Given the description of an element on the screen output the (x, y) to click on. 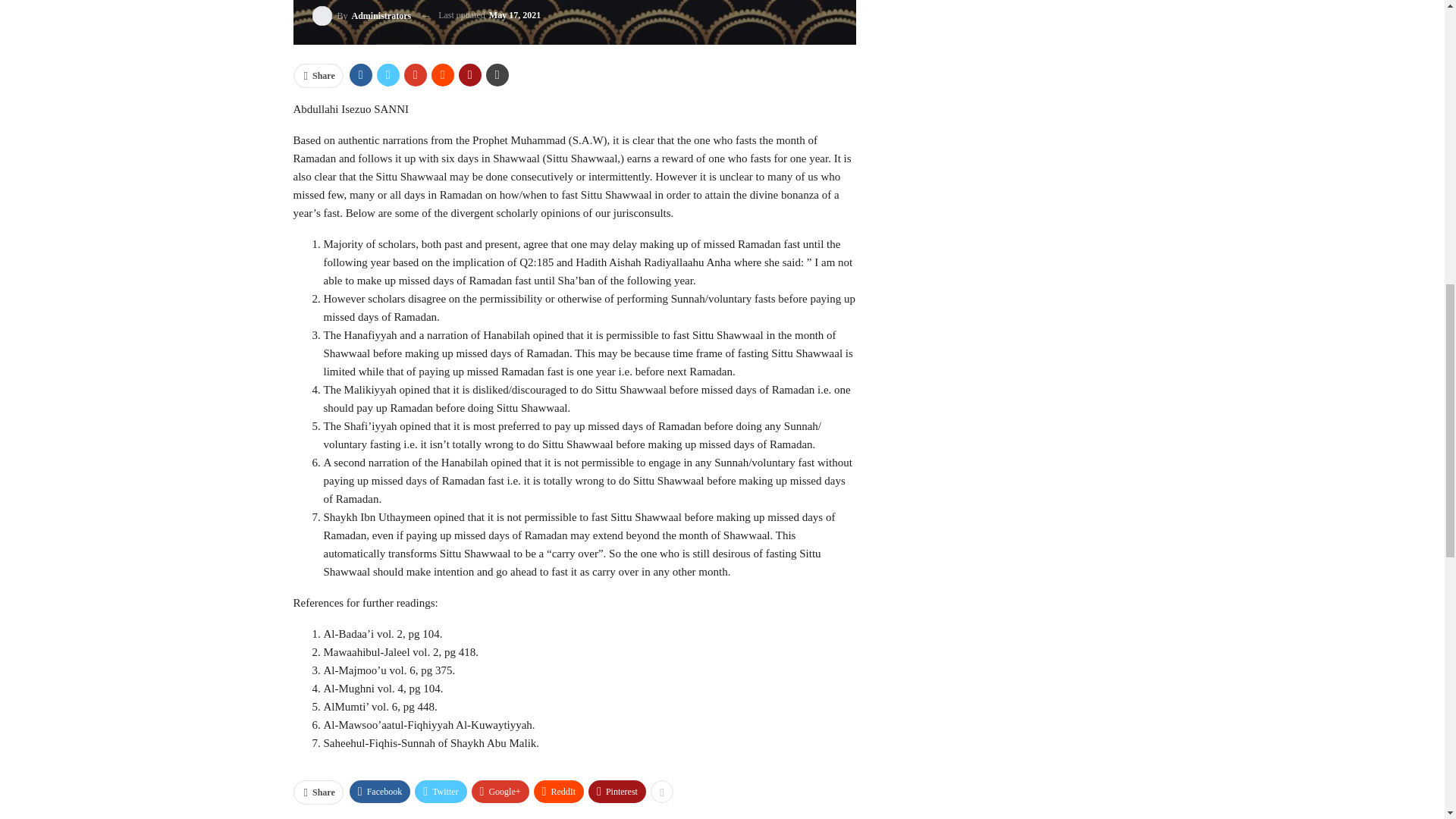
Browse Author Articles (362, 14)
By Administrators (362, 14)
